Given the description of an element on the screen output the (x, y) to click on. 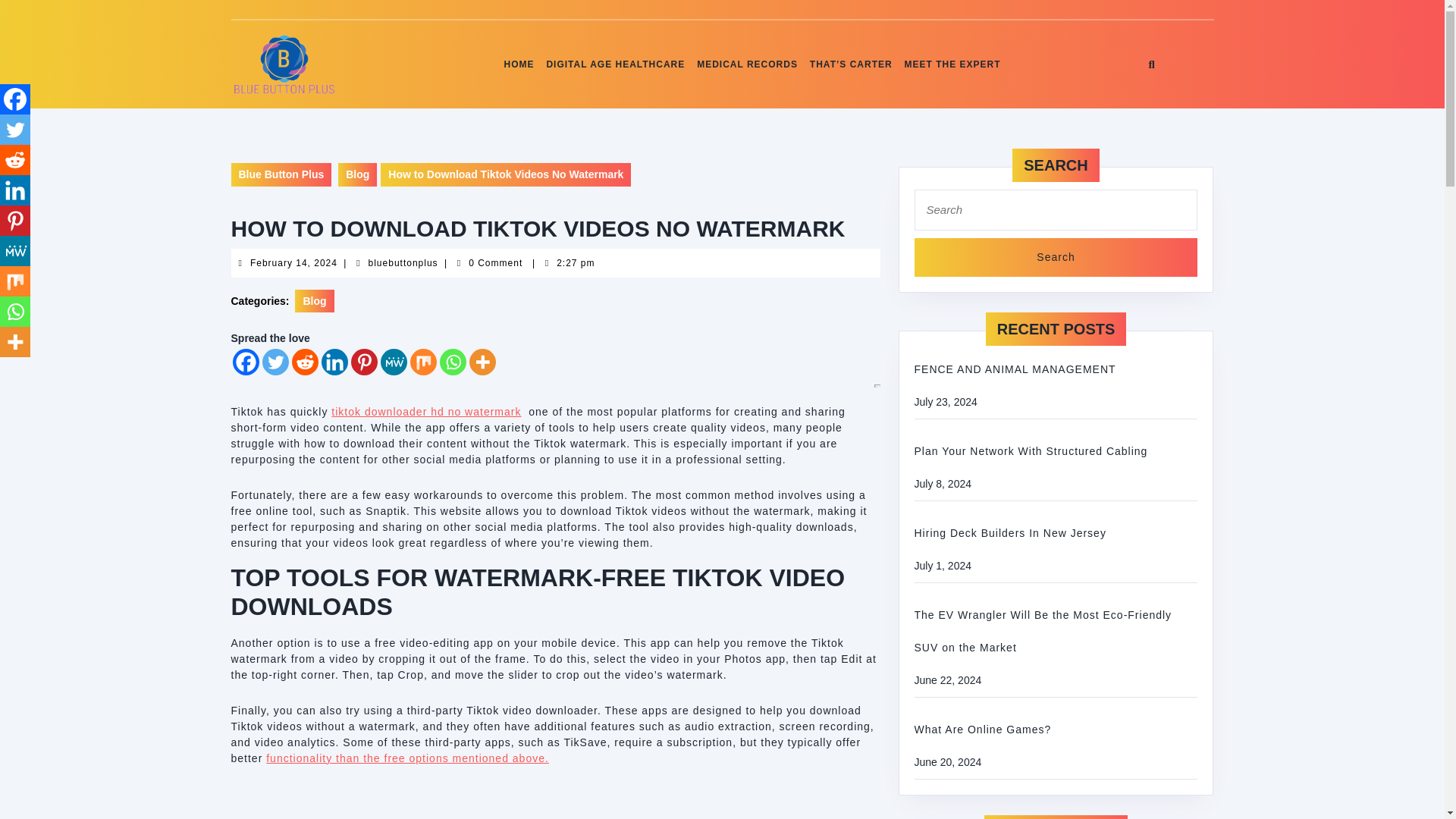
Twitter (275, 361)
More (481, 361)
MeWe (393, 361)
Reddit (304, 361)
tiktok downloader hd no watermark (426, 411)
Facebook (15, 99)
Blog (357, 174)
Twitter (15, 129)
Search (1056, 257)
Search (403, 262)
Pinterest (1056, 257)
MEET THE EXPERT (363, 361)
Whatsapp (952, 64)
functionality than the free options mentioned above. (452, 361)
